Given the description of an element on the screen output the (x, y) to click on. 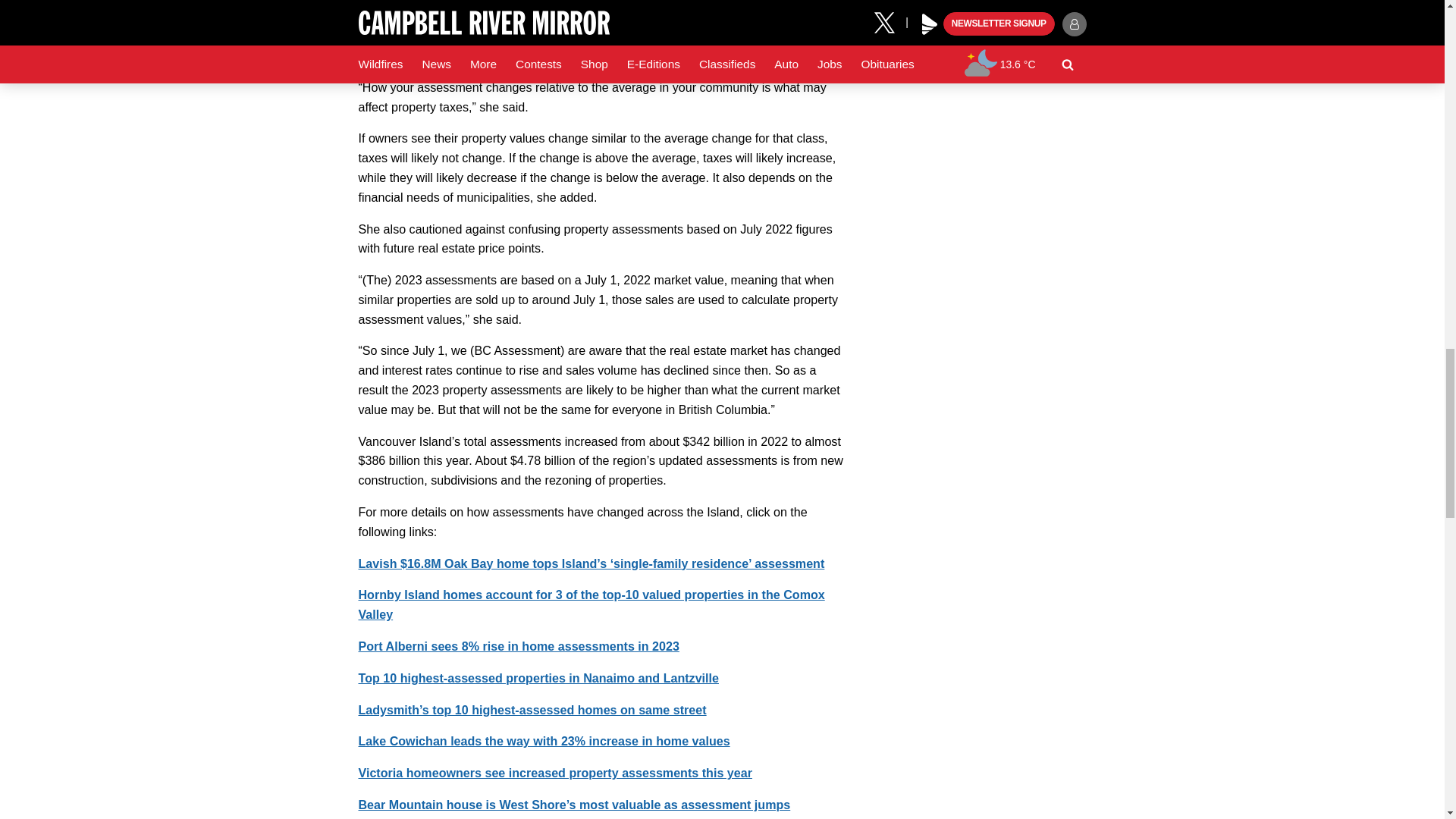
related story (518, 645)
related story (591, 563)
related story (574, 804)
related story (543, 740)
related story (591, 604)
related story (532, 709)
related story (537, 677)
related story (554, 772)
